Given the description of an element on the screen output the (x, y) to click on. 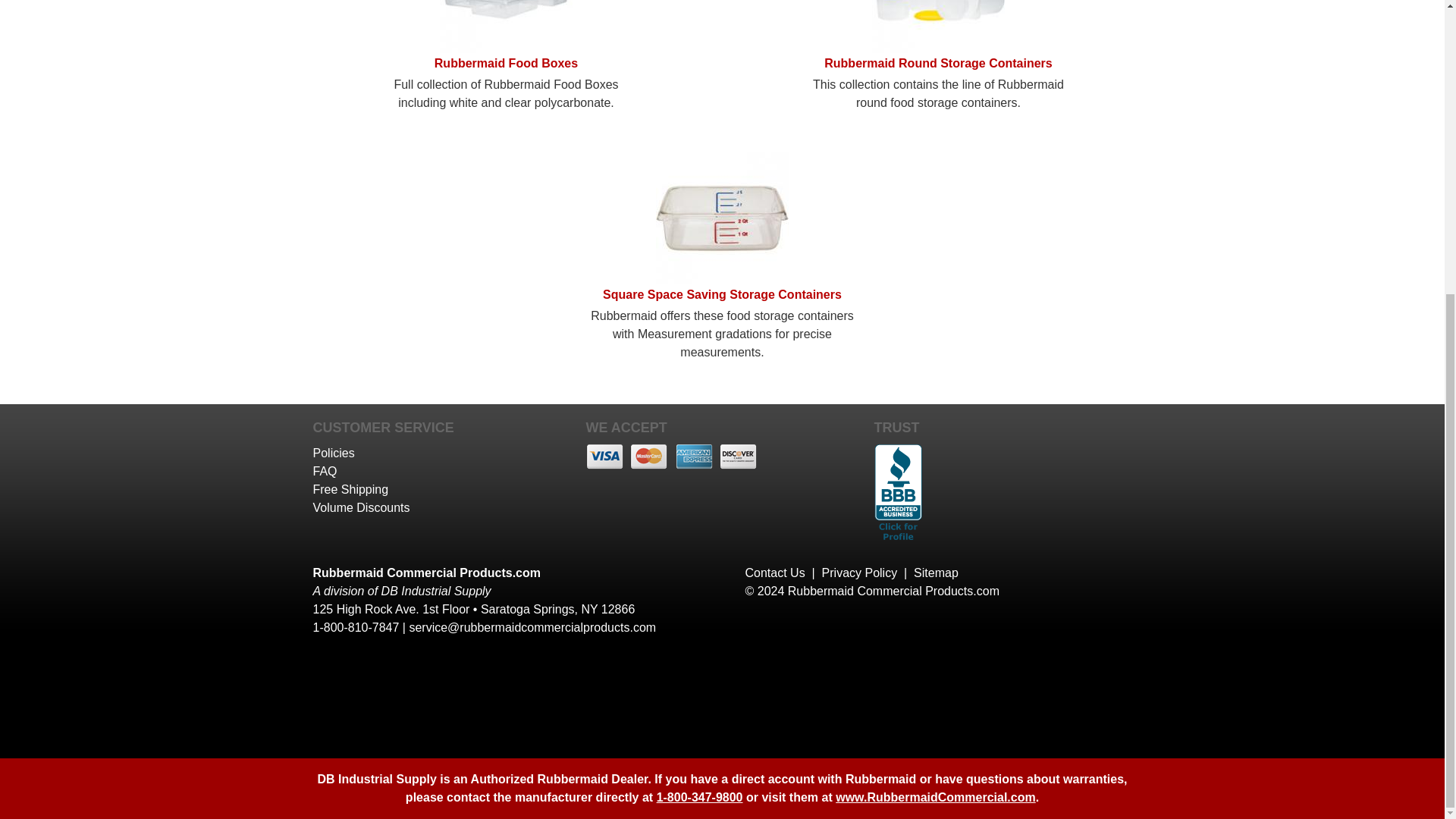
Rubbermaid Food Boxes (505, 48)
Rubbermaid Food Boxes (505, 26)
Square Space Saving Storage Containers (722, 217)
Square Space Saving Storage Containers (722, 279)
Georgia Mills Direct, Ltd. BBB Business Review (897, 541)
Rubbermaid Round Storage Containers (938, 26)
Rubbermaid Round Storage Containers (938, 48)
